Given the description of an element on the screen output the (x, y) to click on. 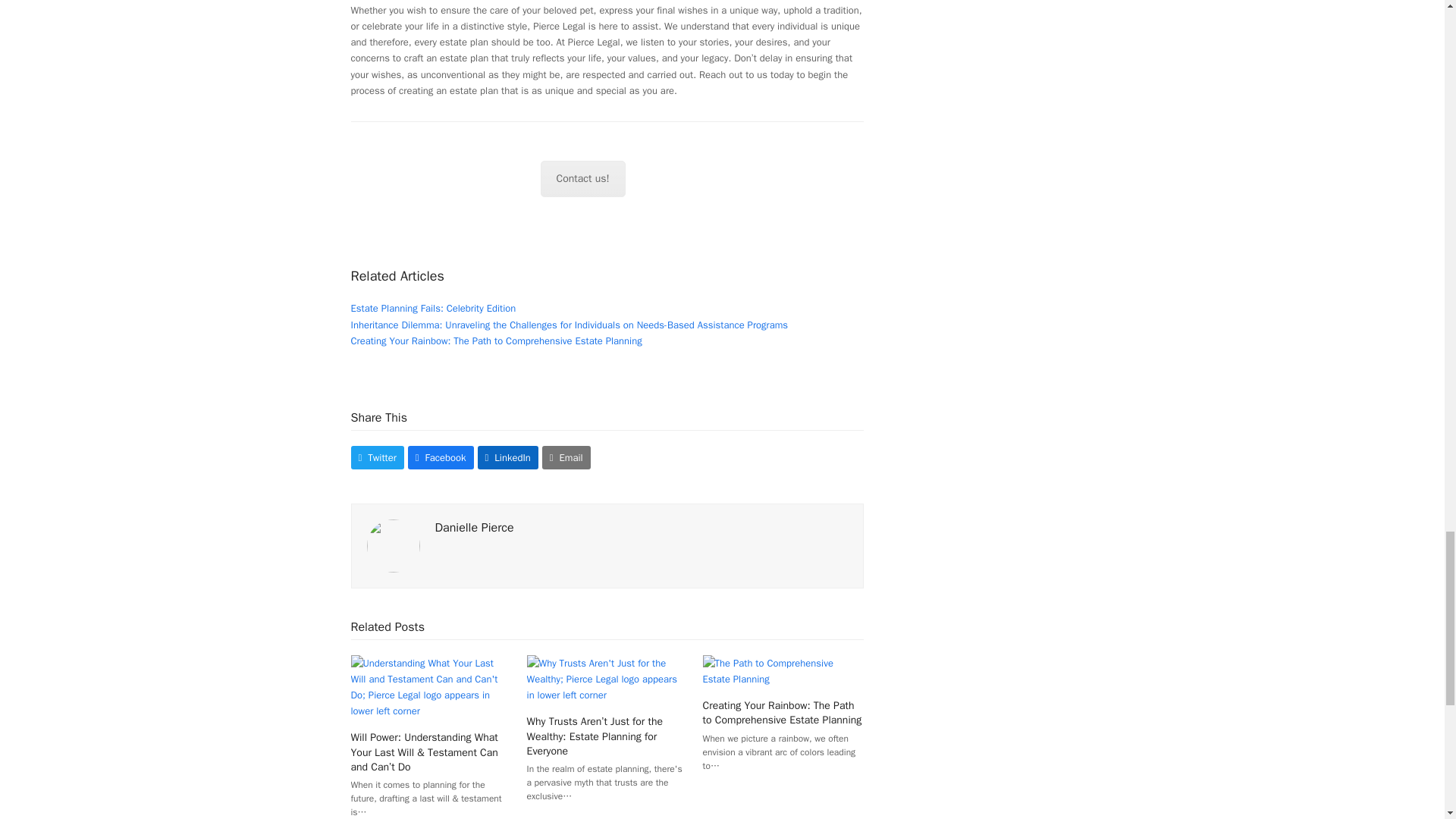
LinkedIn (507, 457)
Contact us! (582, 178)
Twitter (376, 457)
Facebook (440, 457)
Visit Author Page (474, 527)
Danielle Pierce (474, 527)
Estate Planning Fails: Celebrity Edition (432, 308)
Email (566, 457)
Visit Author Page (393, 544)
